Given the description of an element on the screen output the (x, y) to click on. 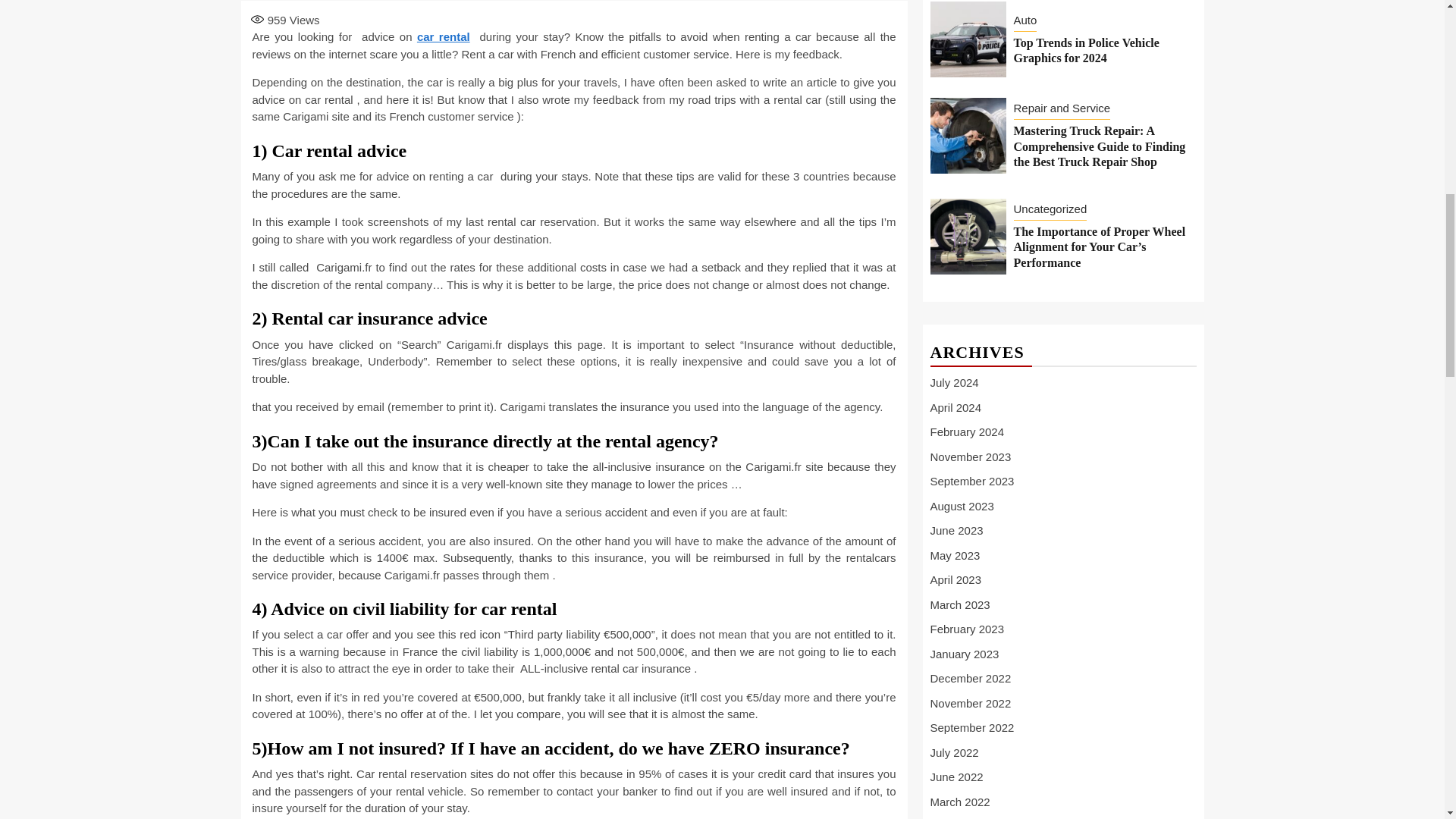
car rental (443, 36)
